Given the description of an element on the screen output the (x, y) to click on. 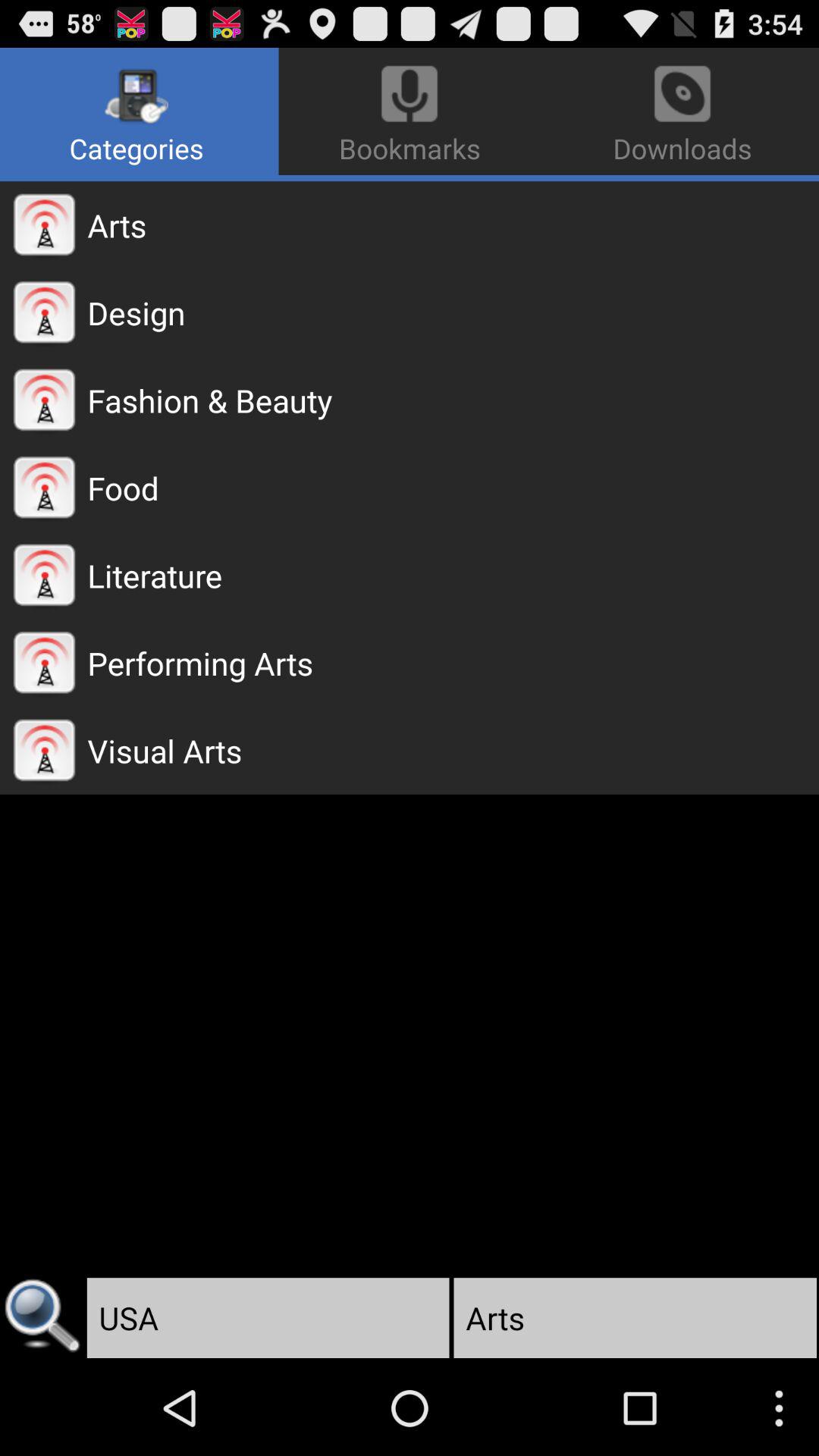
click fashion & beauty app (453, 400)
